Given the description of an element on the screen output the (x, y) to click on. 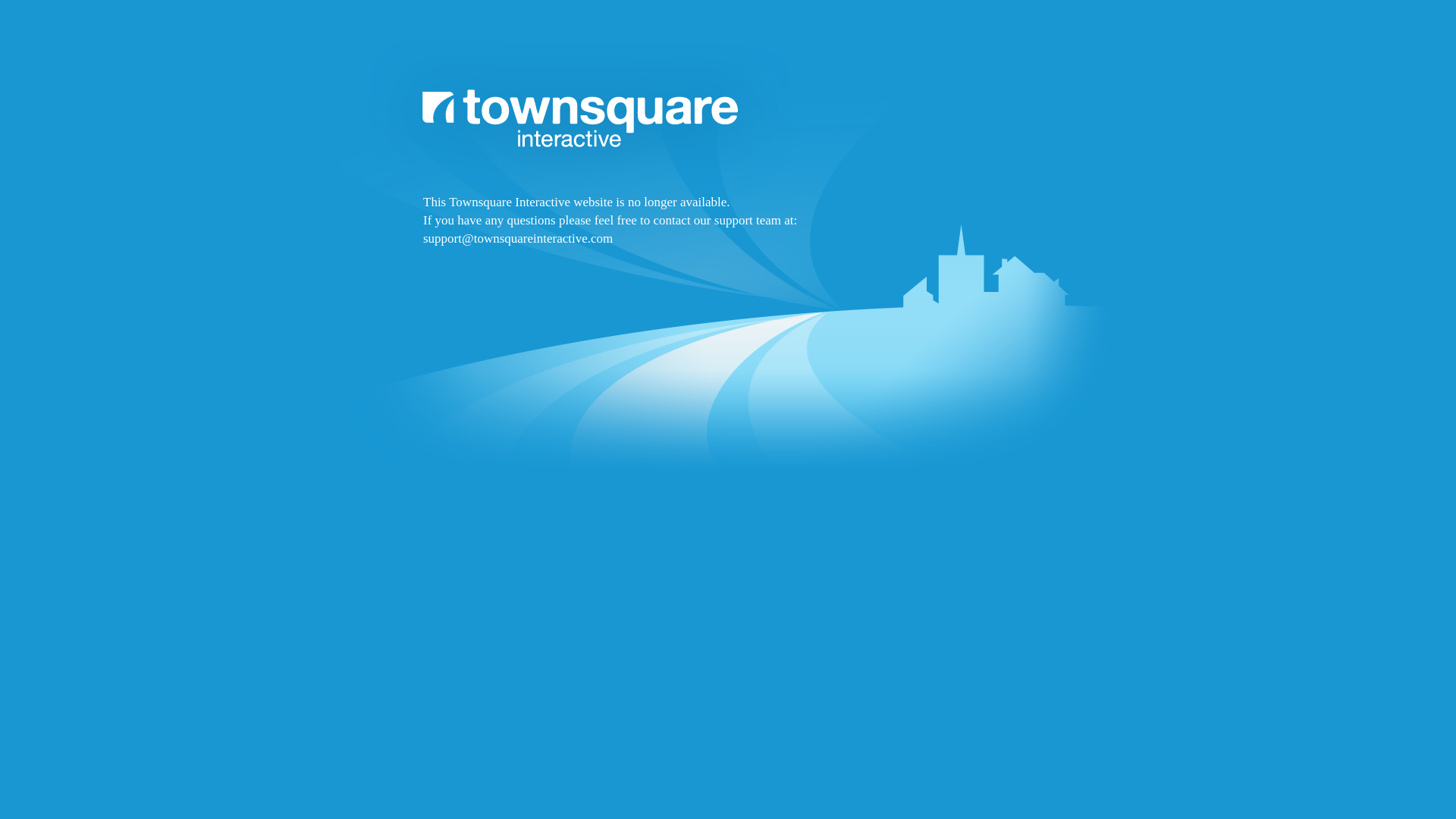
Townsquare Interactive Element type: hover (727, 297)
